Given the description of an element on the screen output the (x, y) to click on. 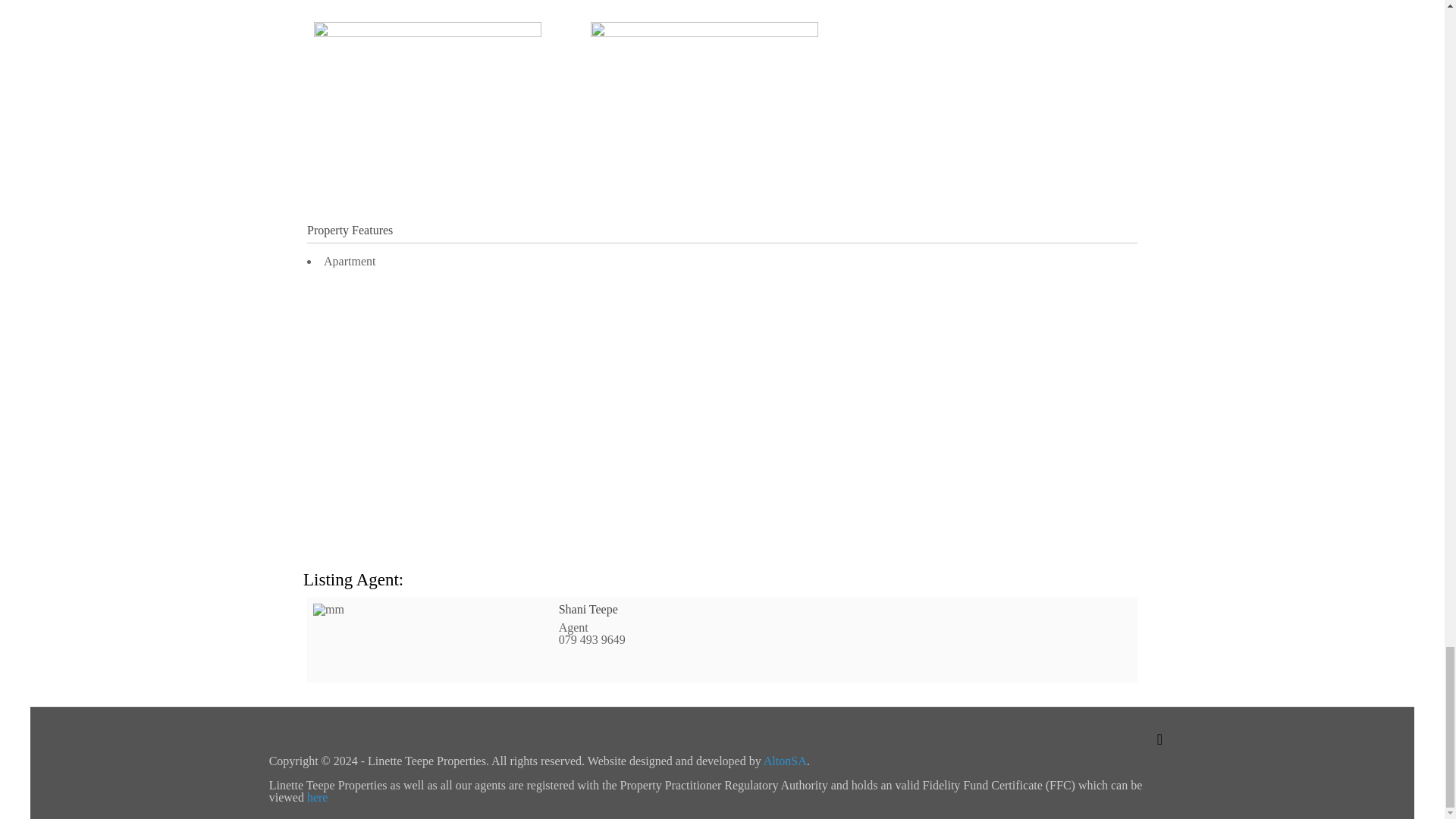
Contact Shani Teepe by Email (567, 660)
